Given the description of an element on the screen output the (x, y) to click on. 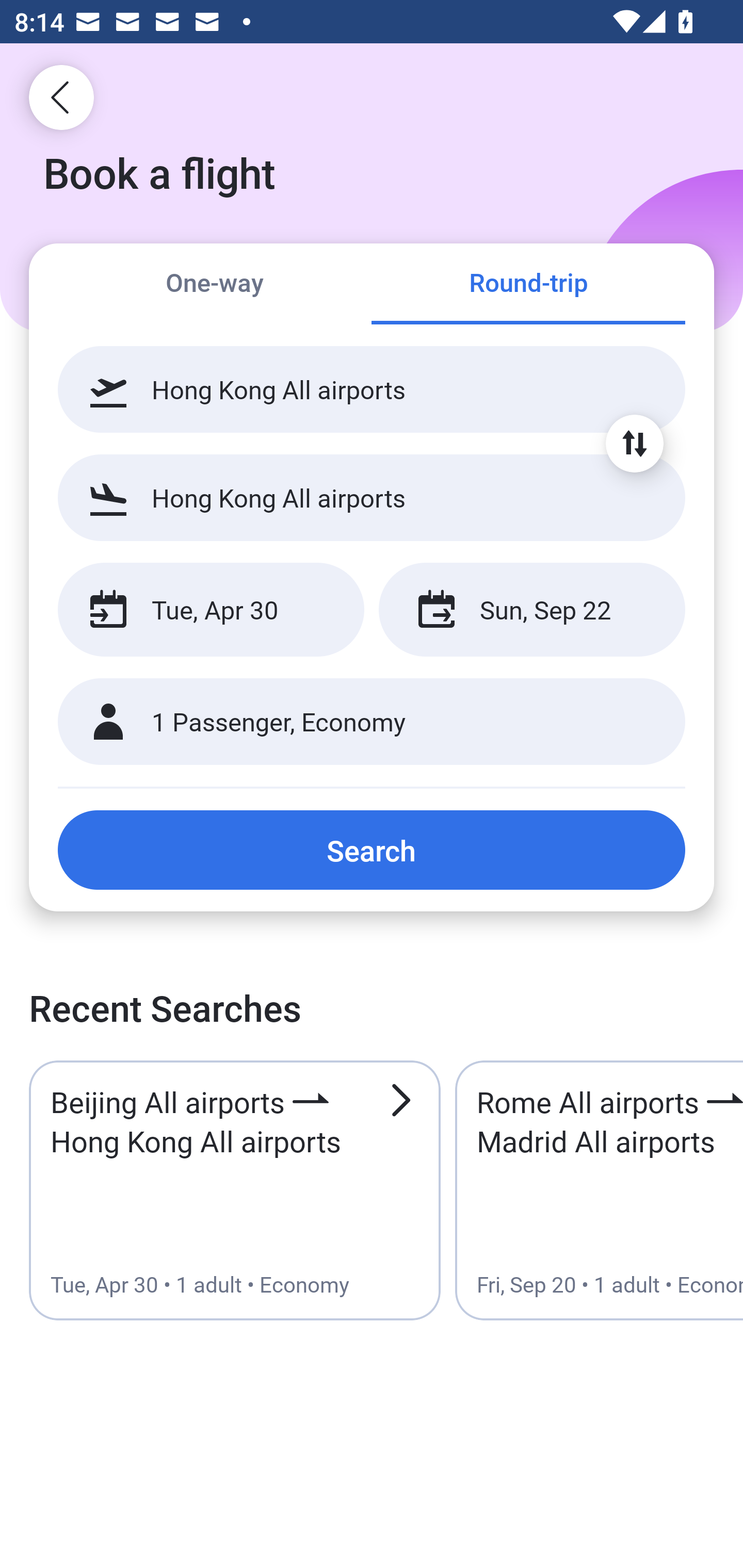
One-way (214, 284)
Hong Kong All airports (371, 389)
Hong Kong All airports (371, 497)
Tue, Apr 30 (210, 609)
Sun, Sep 22 (531, 609)
1 Passenger, Economy (371, 721)
Search (371, 849)
